Given the description of an element on the screen output the (x, y) to click on. 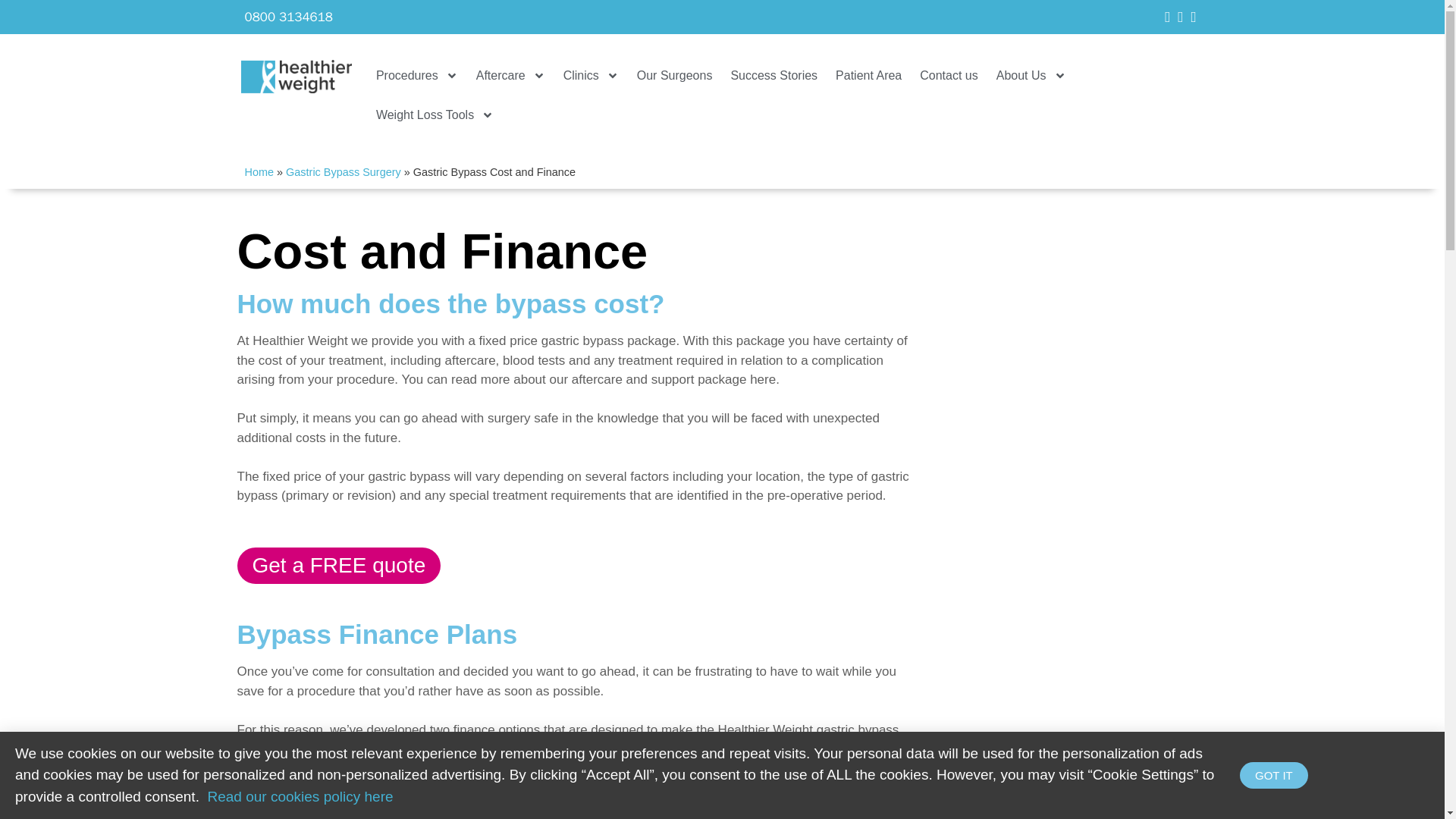
Aftercare (510, 75)
Success Stories (773, 75)
Clinics (590, 75)
0800 3134618 (287, 17)
Procedures (416, 75)
Weight Loss Tools (434, 115)
Our Surgeons (674, 75)
Patient Area (869, 75)
About Us (1031, 75)
Contact us (949, 75)
